Given the description of an element on the screen output the (x, y) to click on. 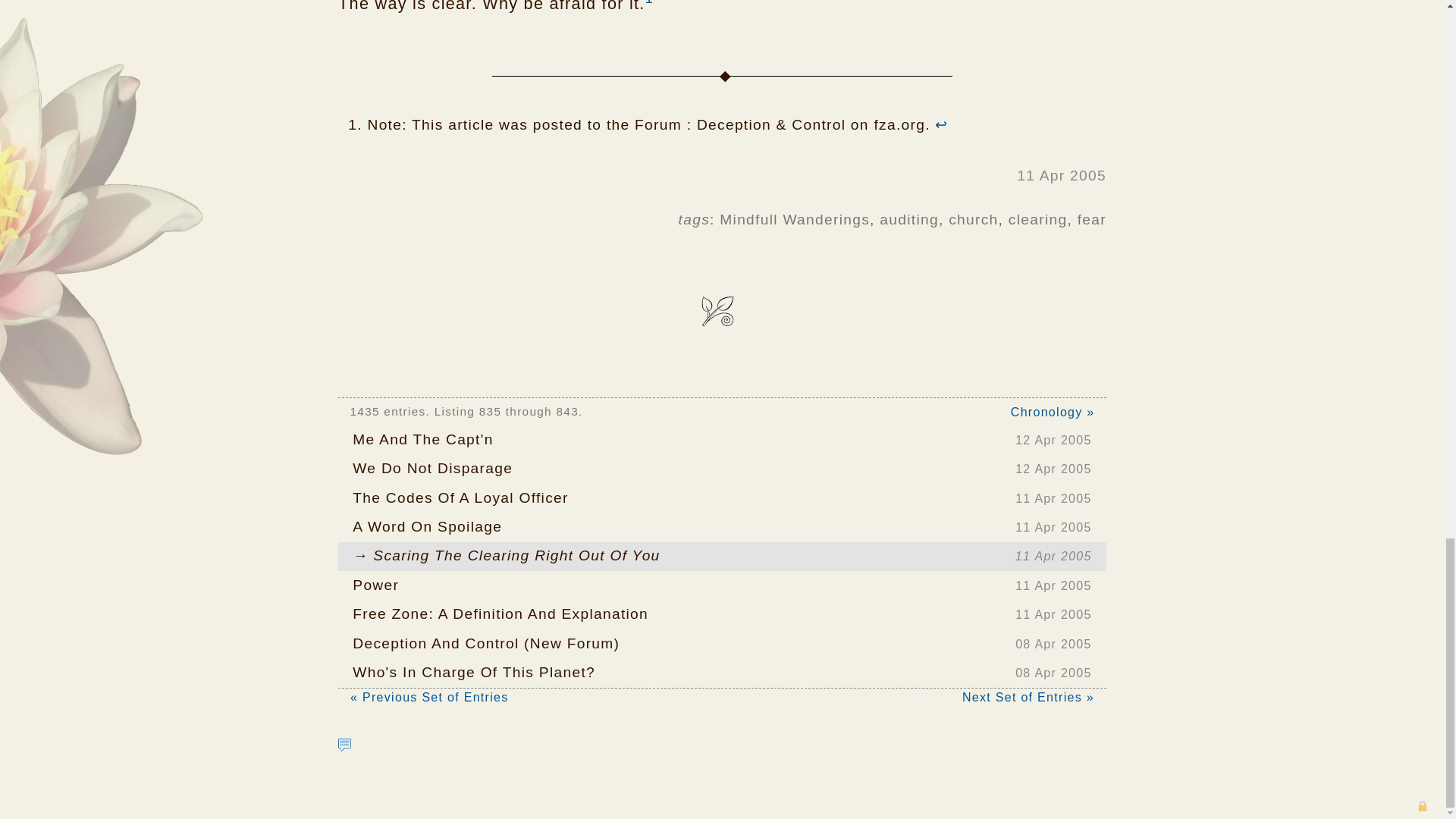
1 (649, 2)
Random quote (343, 744)
fear (721, 526)
clearing (1091, 219)
auditing (721, 469)
Mindfull Wanderings (1038, 219)
tags (909, 219)
church (721, 672)
